Given the description of an element on the screen output the (x, y) to click on. 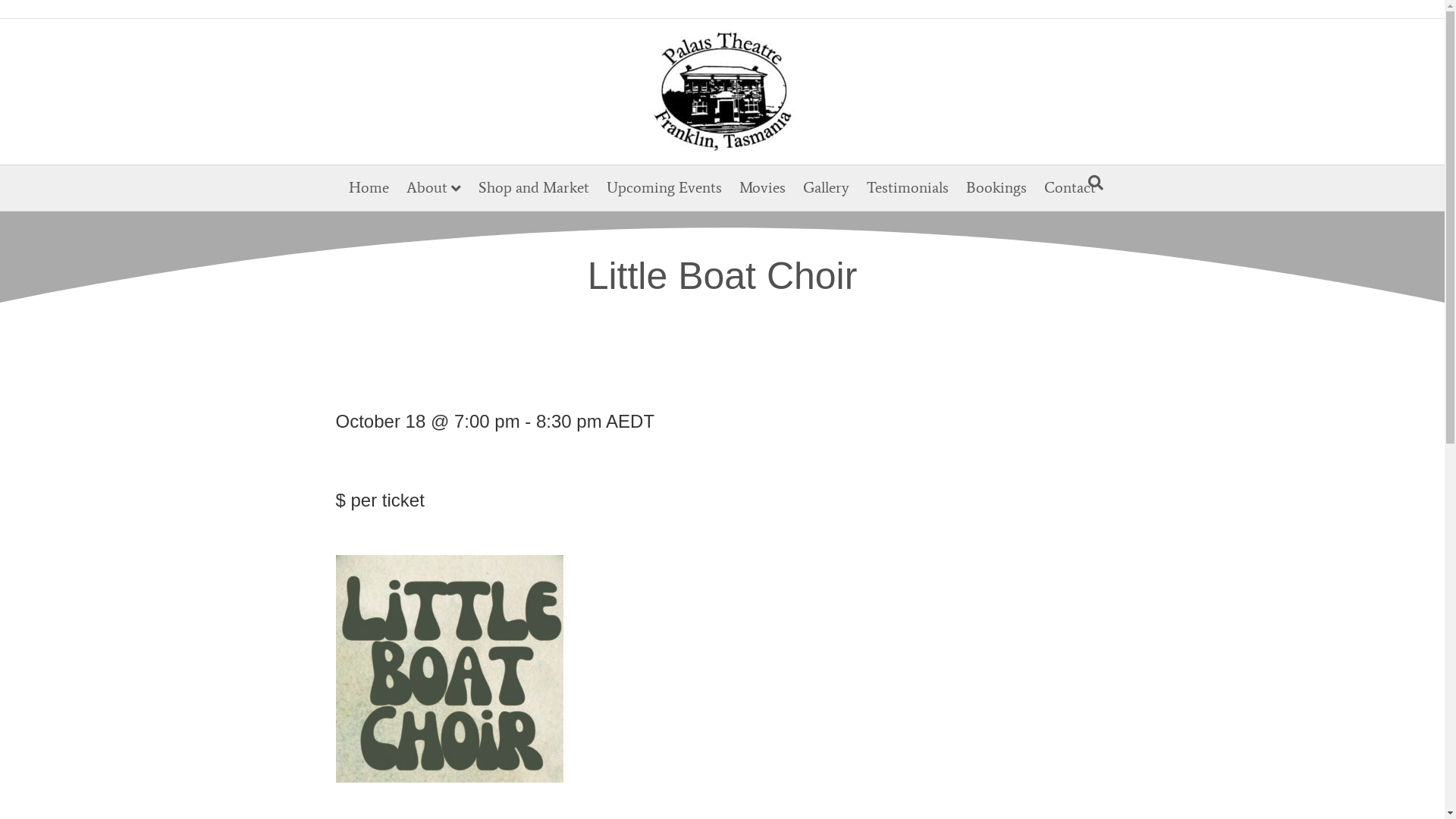
Movies Element type: text (762, 187)
Contact Element type: text (1069, 187)
Home Element type: text (368, 187)
Testimonials Element type: text (907, 187)
Upcoming Events Element type: text (663, 187)
About Element type: text (433, 187)
Shop and Market Element type: text (533, 187)
Gallery Element type: text (826, 187)
Bookings Element type: text (996, 187)
